Given the description of an element on the screen output the (x, y) to click on. 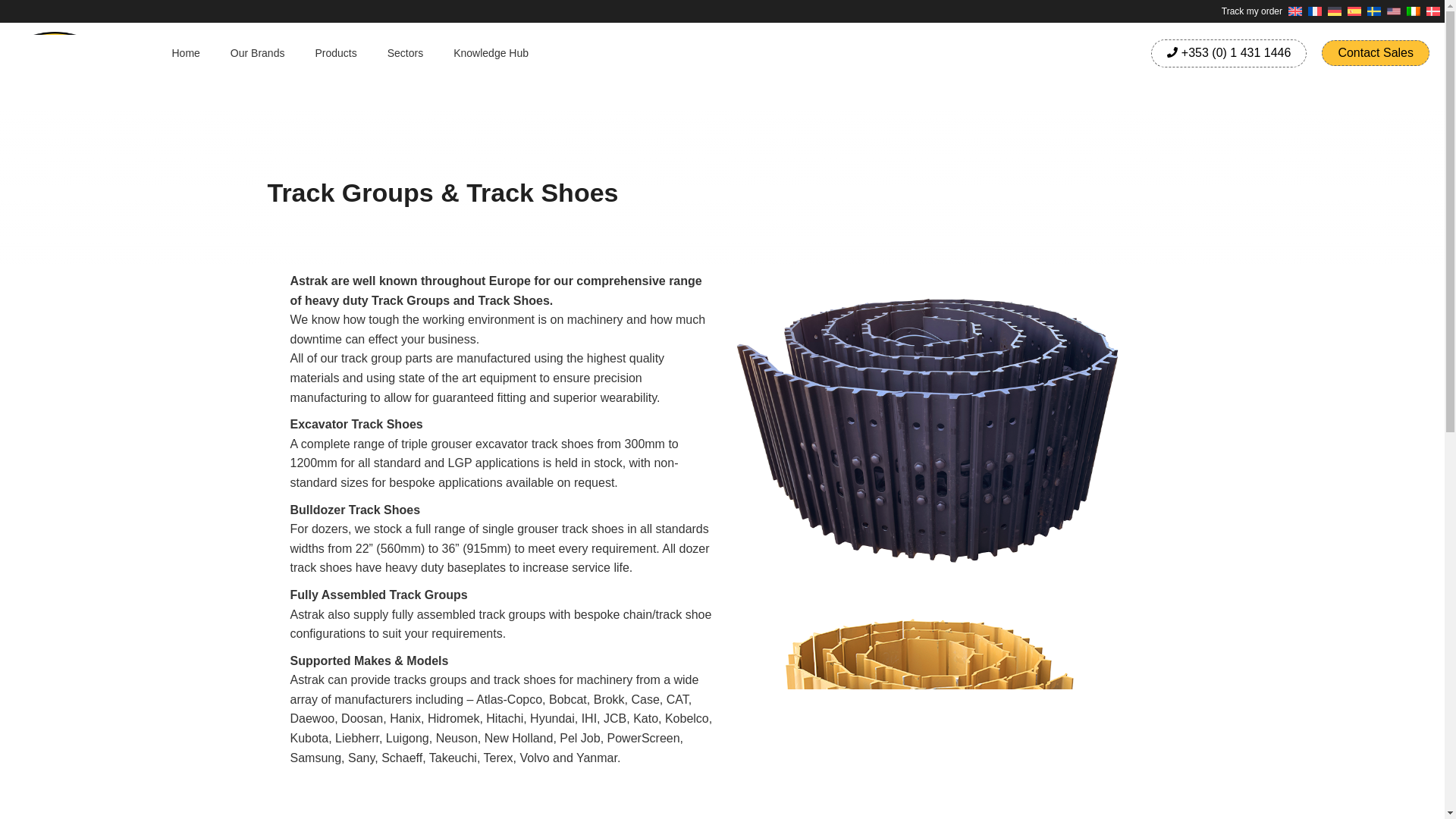
Our Brands (257, 53)
Home (184, 53)
Products (335, 53)
Track my order (1251, 11)
